Given the description of an element on the screen output the (x, y) to click on. 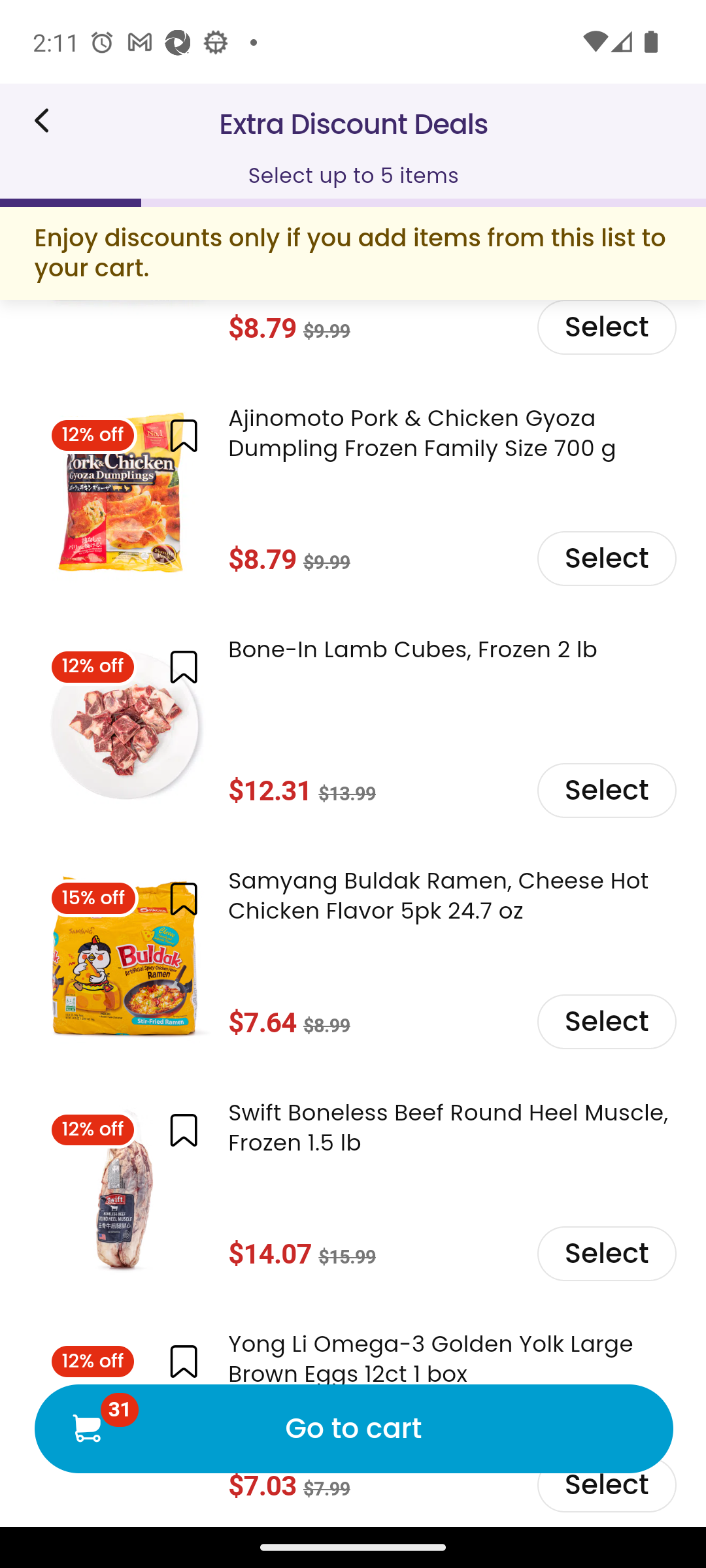
Weee! - Groceries Delivered (47, 120)
Select (606, 328)
 (182, 435)
Select (606, 559)
 (182, 667)
Select (606, 790)
 (182, 899)
Select (606, 1022)
 (182, 1131)
Select (606, 1254)
 (182, 1361)
31  (86, 1428)
Select (606, 1484)
